Given the description of an element on the screen output the (x, y) to click on. 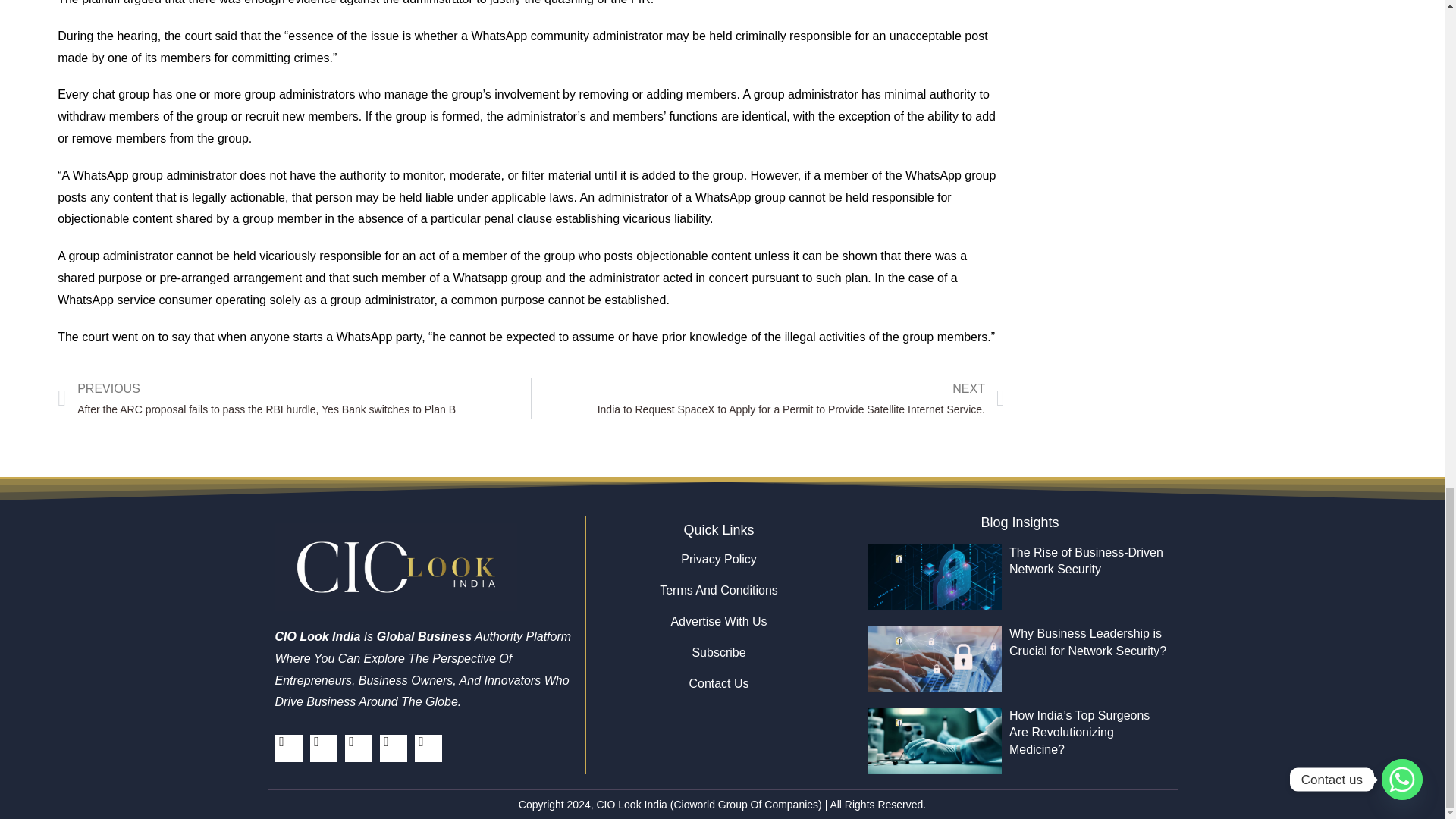
Privacy Policy (718, 559)
Terms And Conditions (718, 590)
Contact Us (718, 683)
Subscribe (718, 652)
Advertise With Us (718, 621)
